Given the description of an element on the screen output the (x, y) to click on. 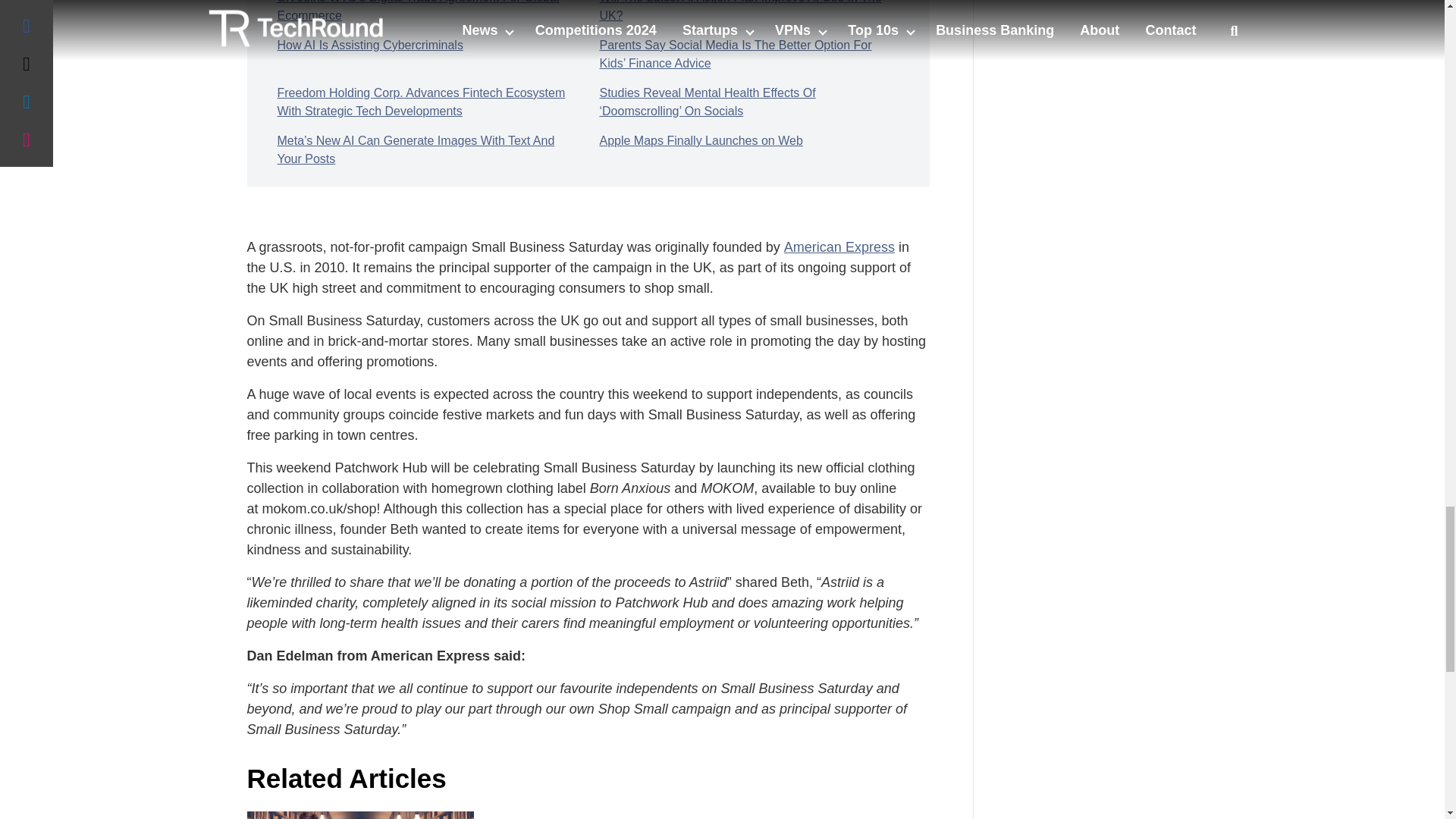
Ten Ridiculous Degrees You Can Actually Study in the UK (360, 815)
